Given the description of an element on the screen output the (x, y) to click on. 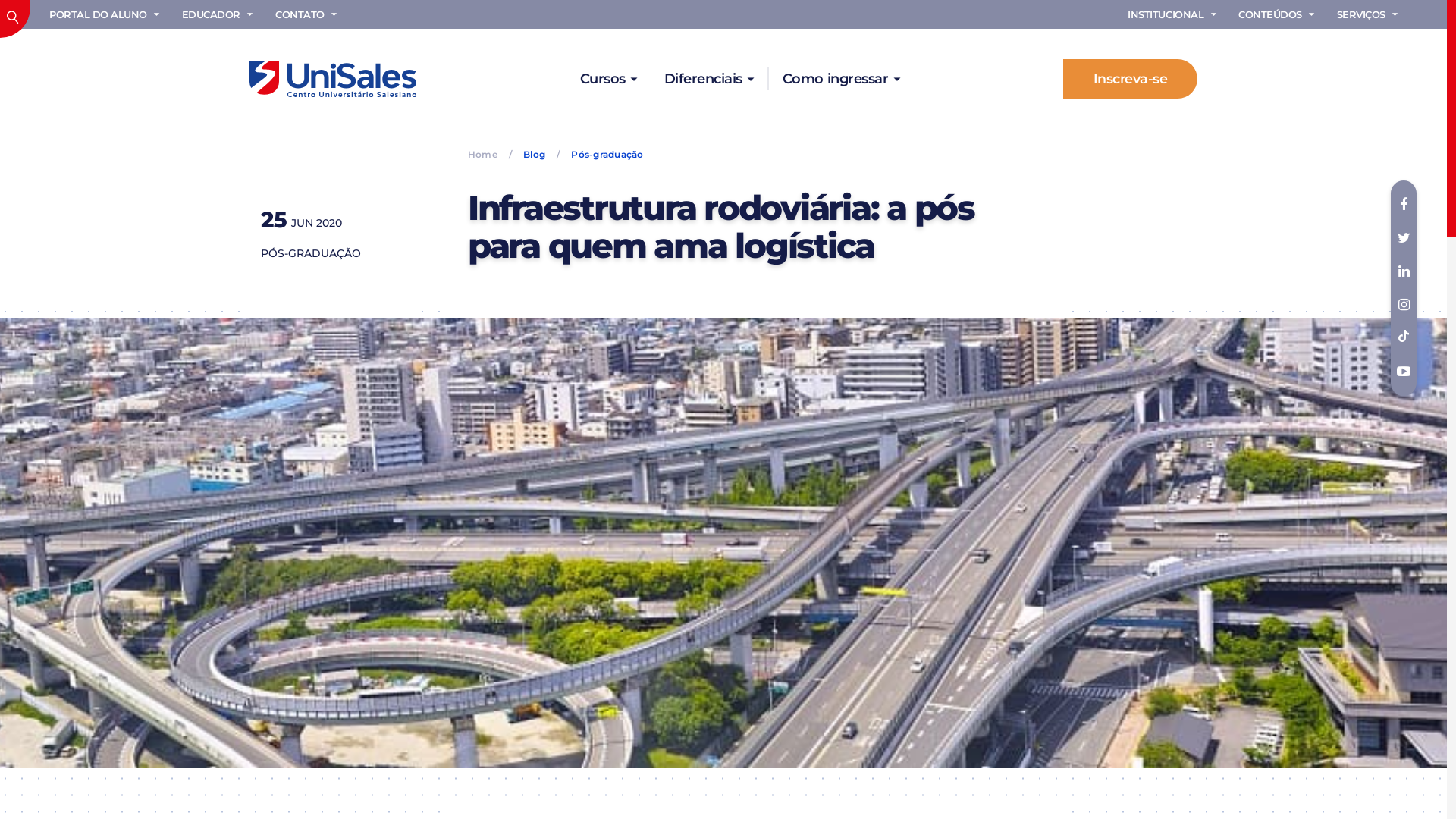
Linkedin Element type: hover (1403, 271)
TikTok Element type: hover (1403, 338)
Blog Element type: text (533, 154)
CONTATO Element type: text (307, 13)
EDUCADOR Element type: text (218, 13)
Facebook Element type: hover (1403, 204)
Instagram Element type: hover (1403, 304)
Youtube Element type: hover (1403, 371)
Cursos Element type: text (608, 78)
INSTITUCIONAL Element type: text (1172, 13)
Home Element type: text (487, 154)
PORTAL DO ALUNO Element type: text (105, 13)
Diferenciais Element type: text (708, 78)
Inscreva-se Element type: text (1130, 78)
Como ingressar Element type: text (840, 78)
twitter Element type: hover (1403, 238)
